Given the description of an element on the screen output the (x, y) to click on. 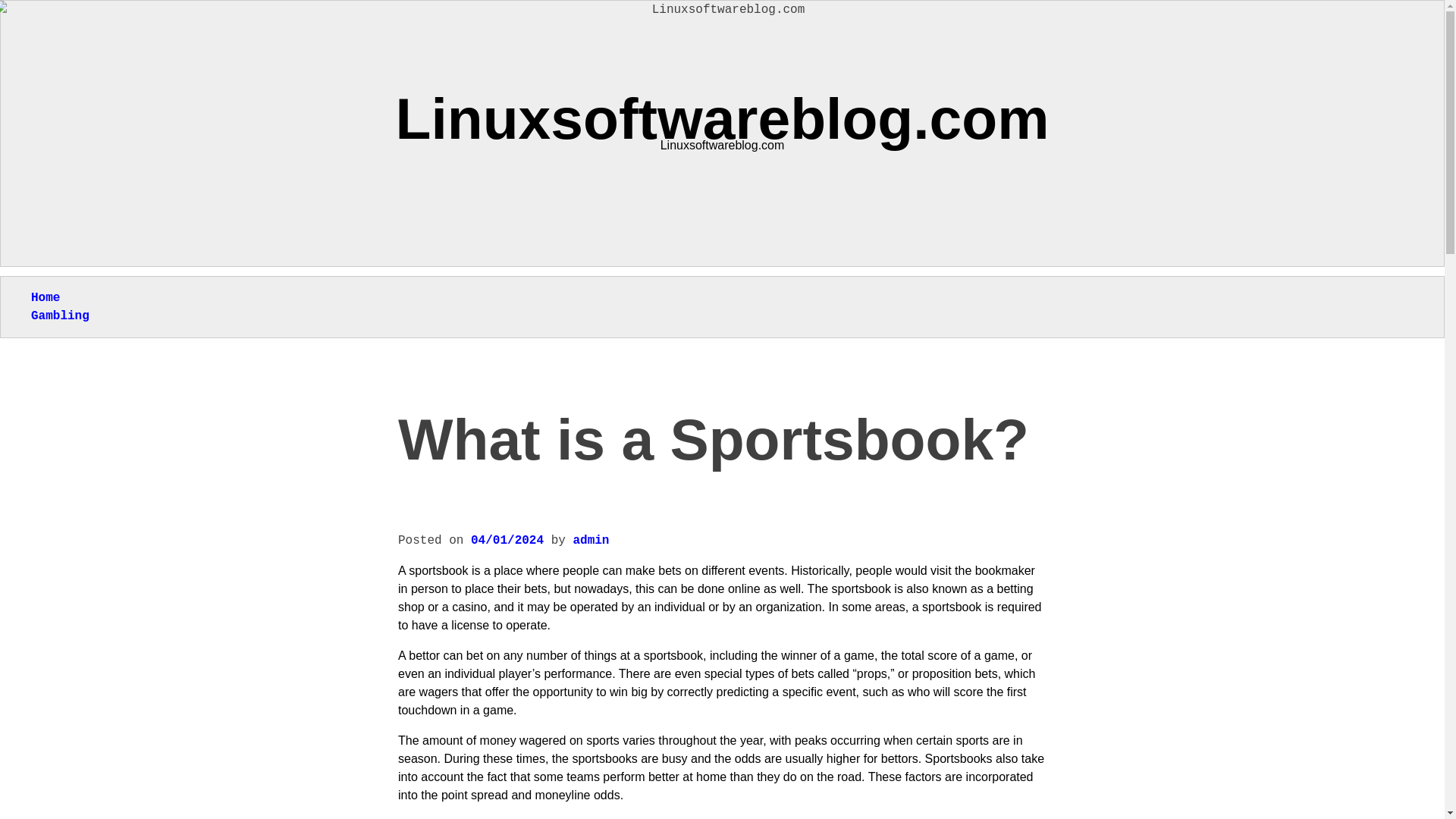
Linuxsoftwareblog.com (722, 118)
Gambling (59, 315)
admin (590, 540)
Home (44, 297)
